Given the description of an element on the screen output the (x, y) to click on. 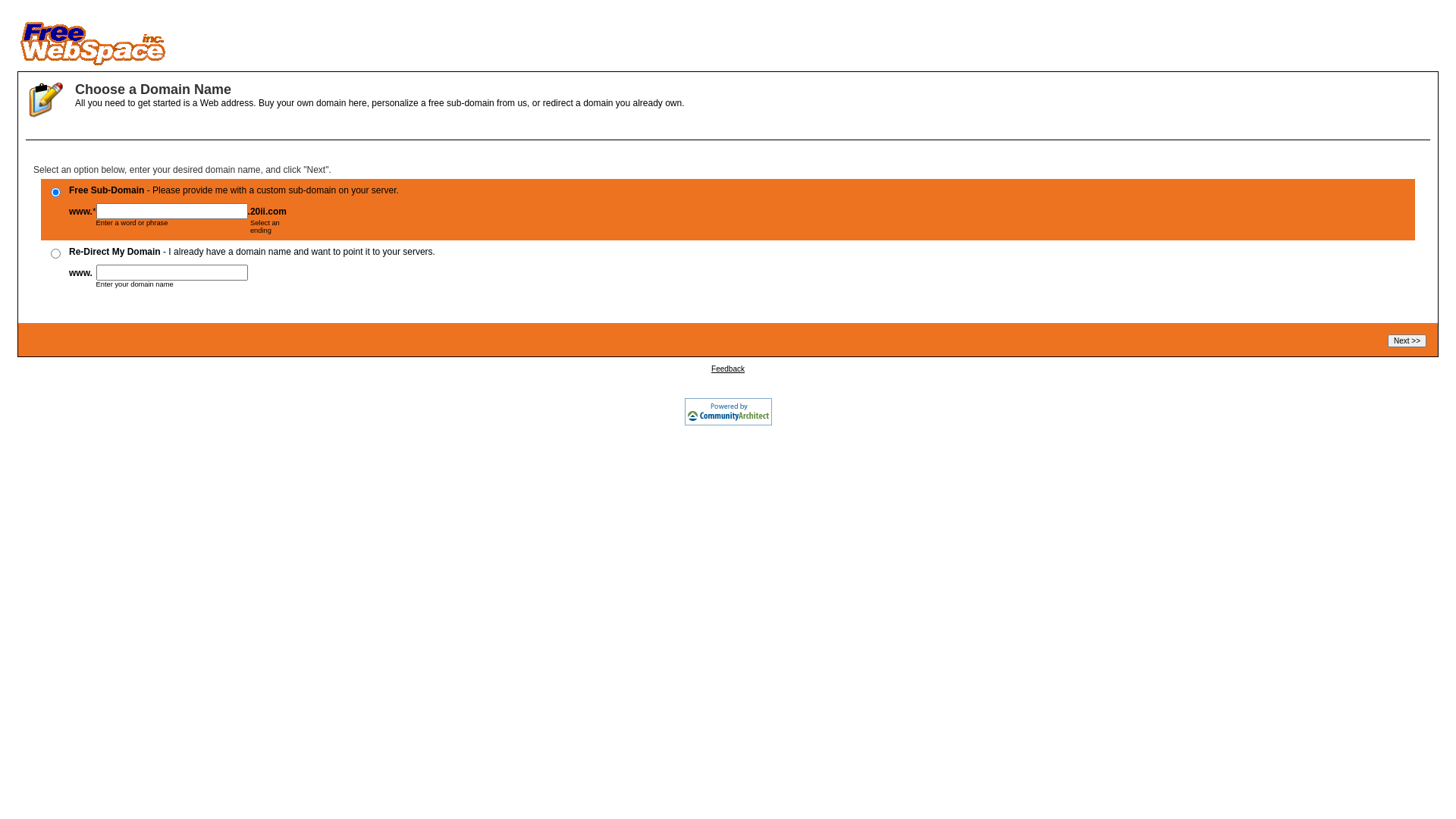
subdomain Element type: text (55, 192)
transfer Element type: text (55, 253)
Feedback Element type: text (727, 368)
Next >> Element type: text (1406, 340)
